Given the description of an element on the screen output the (x, y) to click on. 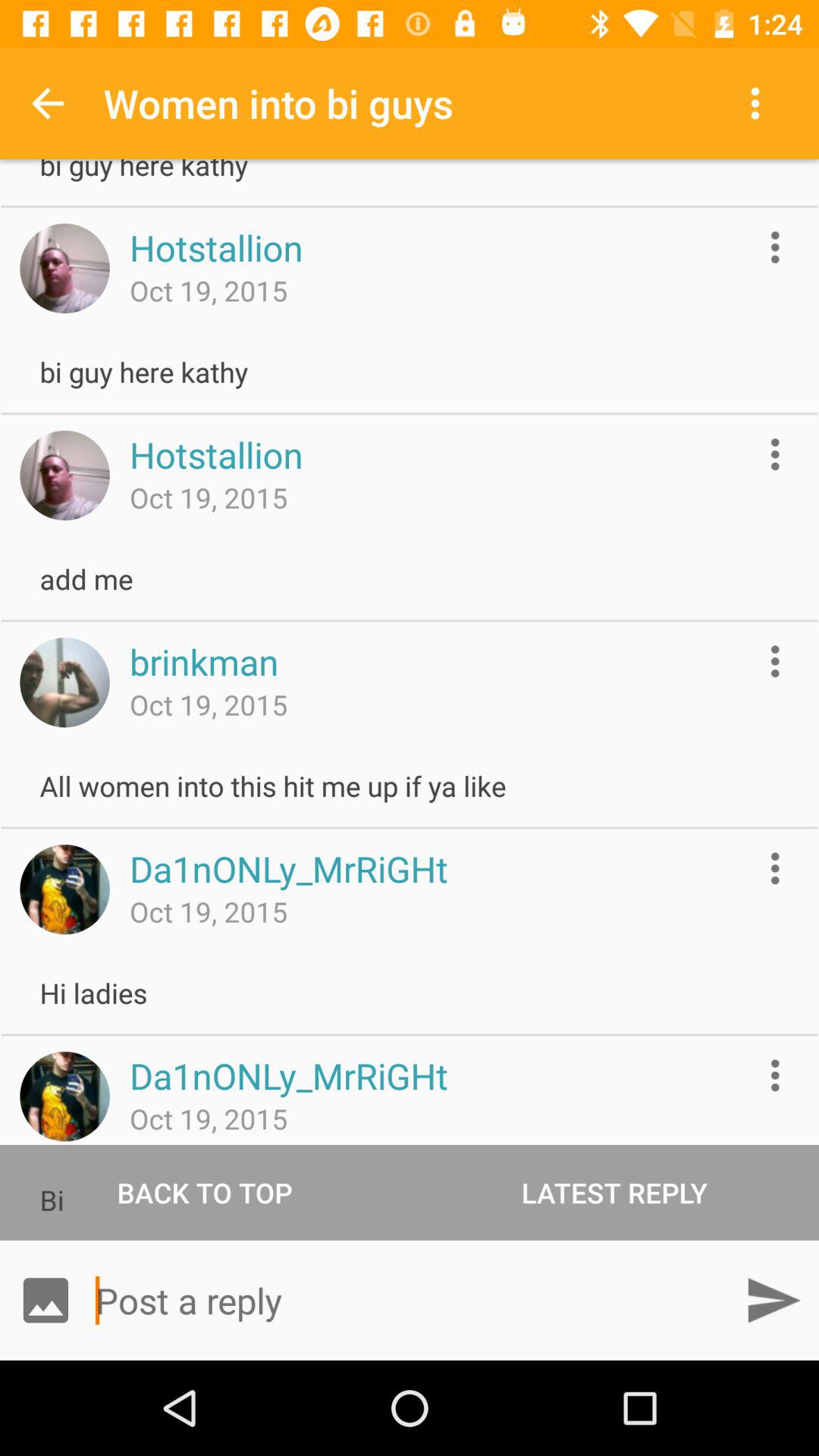
information (775, 454)
